Given the description of an element on the screen output the (x, y) to click on. 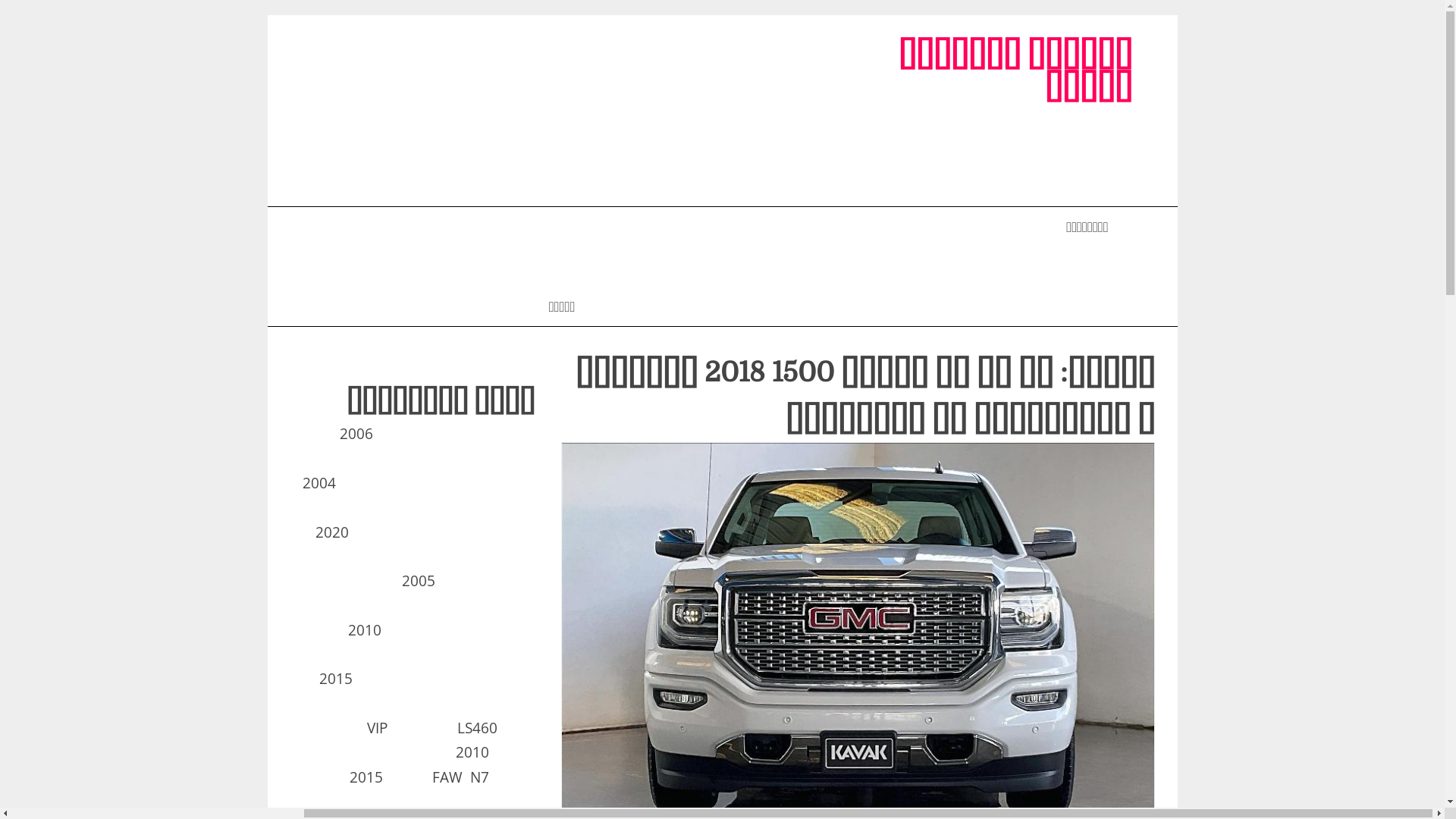
Skip to content Element type: text (1176, 14)
